Given the description of an element on the screen output the (x, y) to click on. 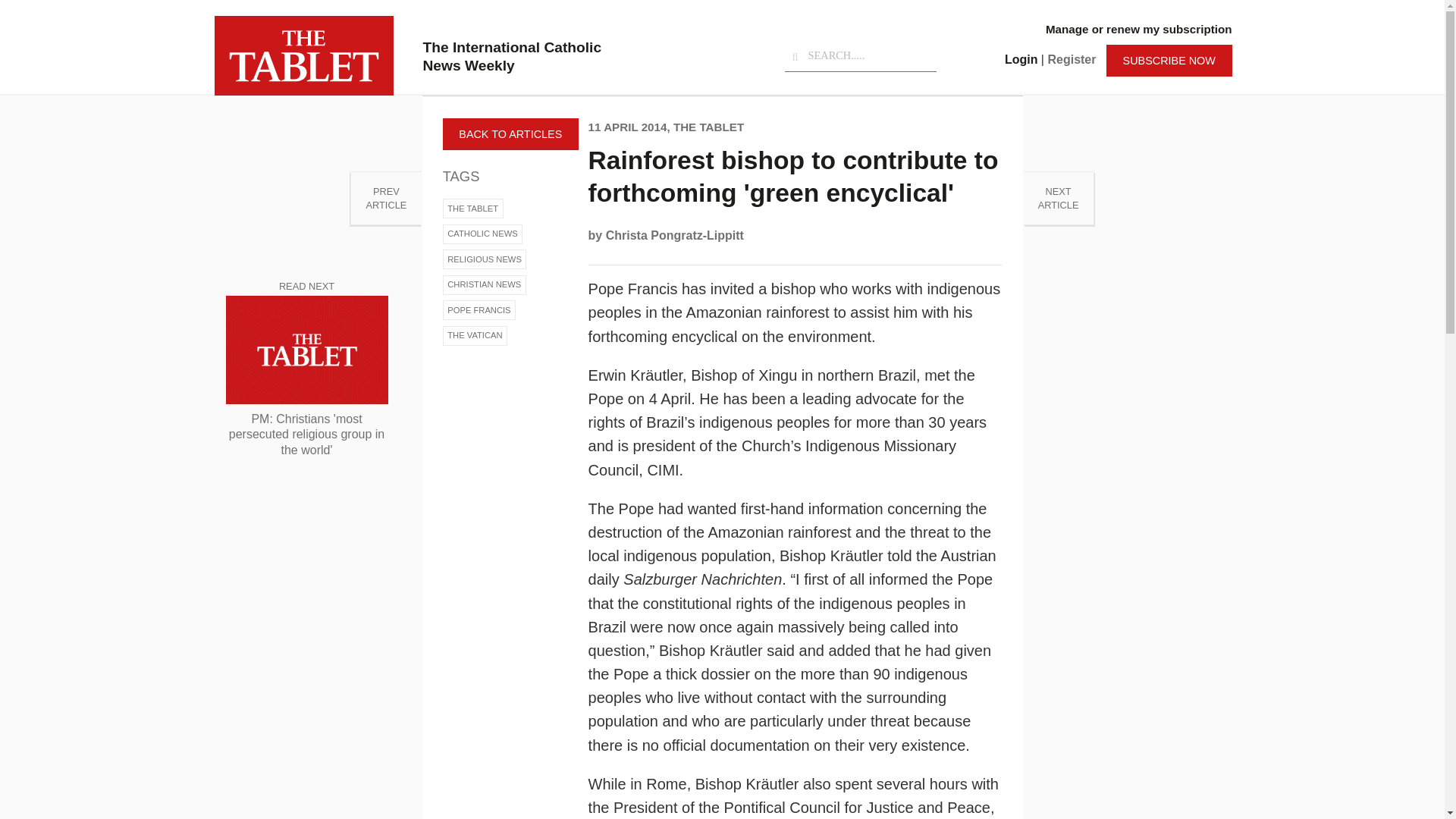
The Tablet (472, 208)
Catholic news (385, 198)
Manage or renew my subscription (482, 234)
Christa Pongratz-Lippitt (1138, 29)
POPE FRANCIS (674, 235)
Christian news (479, 310)
THE TABLET (483, 284)
BACK TO ARTICLES (472, 208)
